Given the description of an element on the screen output the (x, y) to click on. 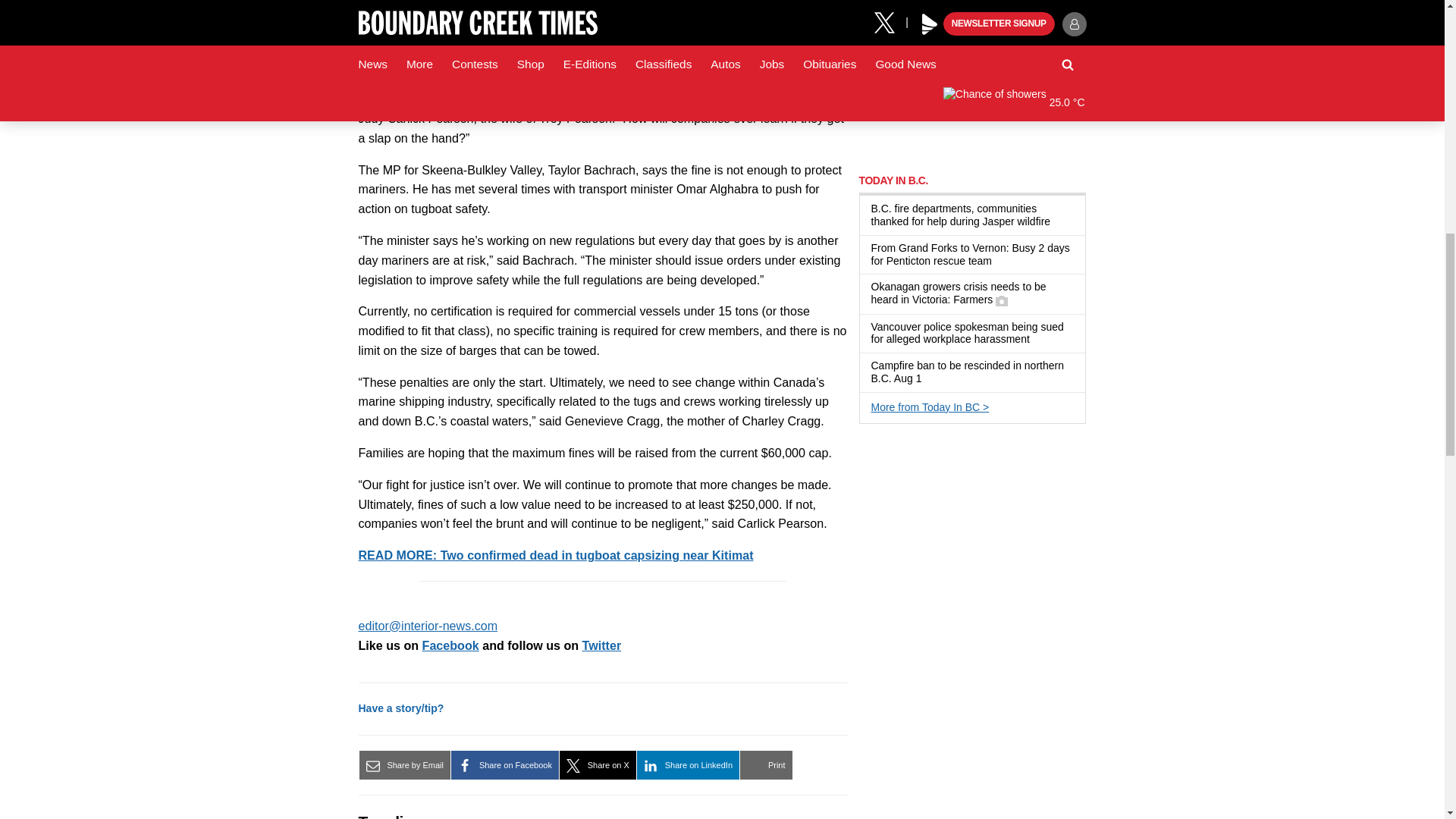
Has a gallery (1001, 300)
